Given the description of an element on the screen output the (x, y) to click on. 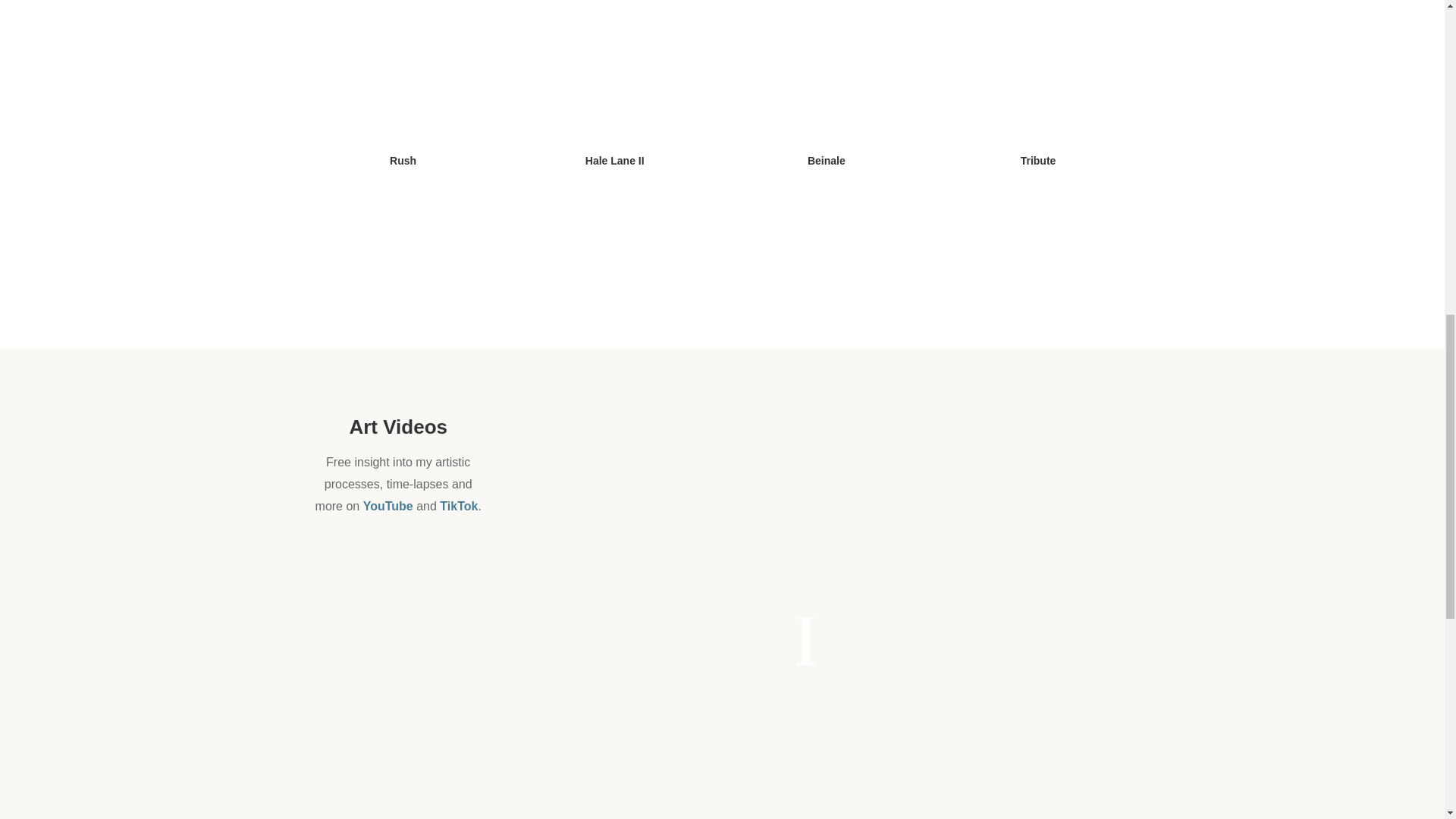
Tribute (1037, 85)
Beinale (826, 85)
Rush (403, 85)
Hale Lane II (614, 85)
YouTube (387, 505)
TikTok (458, 505)
